Given the description of an element on the screen output the (x, y) to click on. 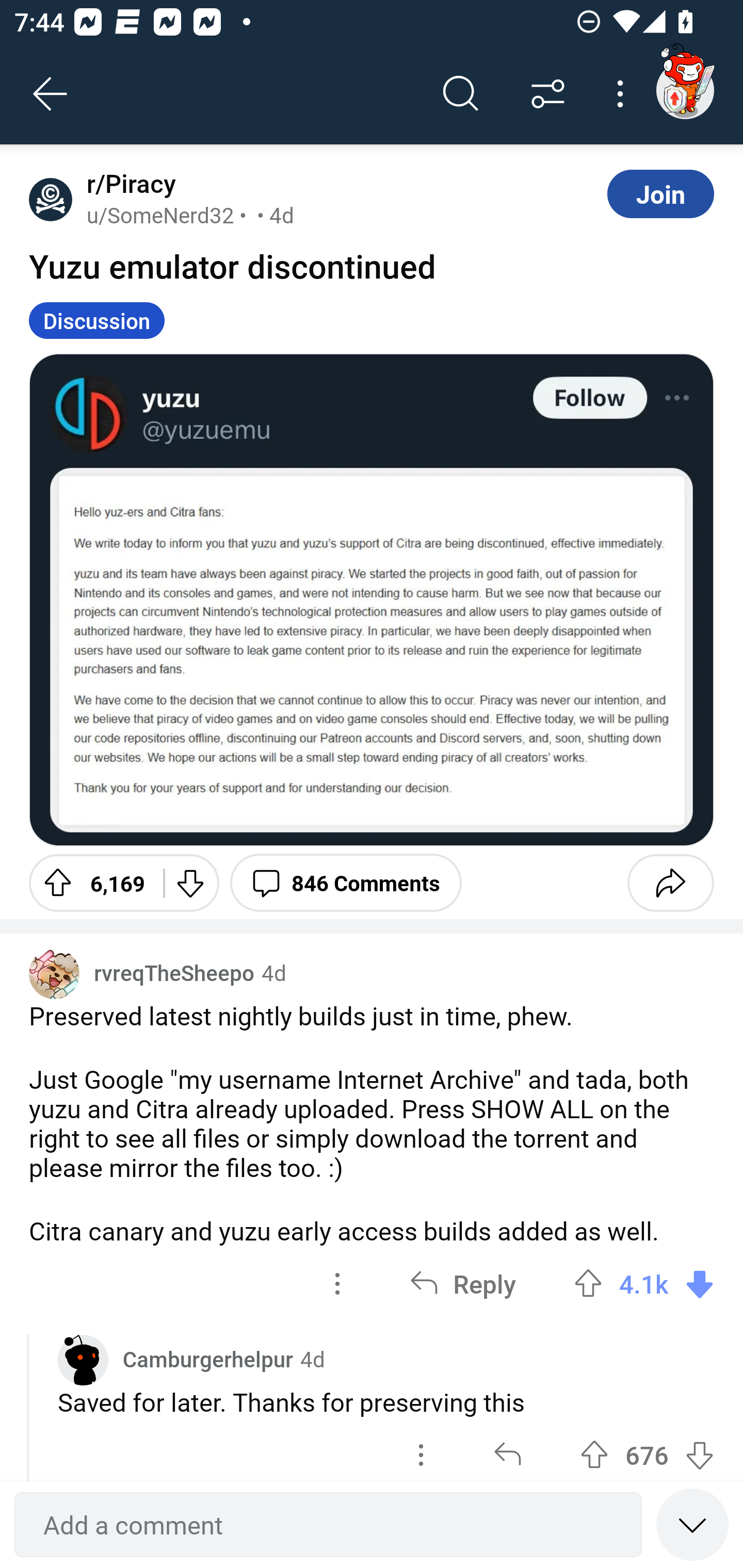
Back (50, 93)
TestAppium002 account (685, 90)
Search comments (460, 93)
Sort comments (547, 93)
More options (623, 93)
r/Piracy (127, 183)
Join (660, 193)
Avatar (50, 199)
Discussion (96, 320)
Image (371, 599)
Upvote 6,169 (88, 882)
Downvote (189, 882)
846 Comments (346, 882)
Share (670, 882)
Avatar (53, 973)
options (337, 1284)
Reply (462, 1284)
Upvote 4.1k 4105 votes Downvote (643, 1284)
Custom avatar (82, 1359)
Saved for later. Thanks for preserving this (385, 1401)
options (420, 1450)
Upvote 676 676 votes Downvote (647, 1450)
Speed read (692, 1524)
Add a comment (327, 1524)
